Given the description of an element on the screen output the (x, y) to click on. 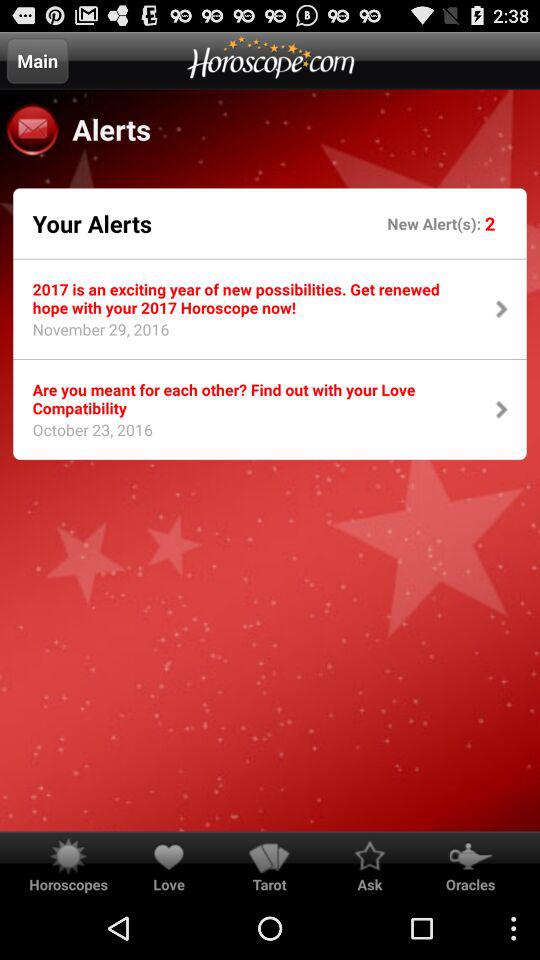
tap item to the right of the your alerts icon (435, 222)
